Given the description of an element on the screen output the (x, y) to click on. 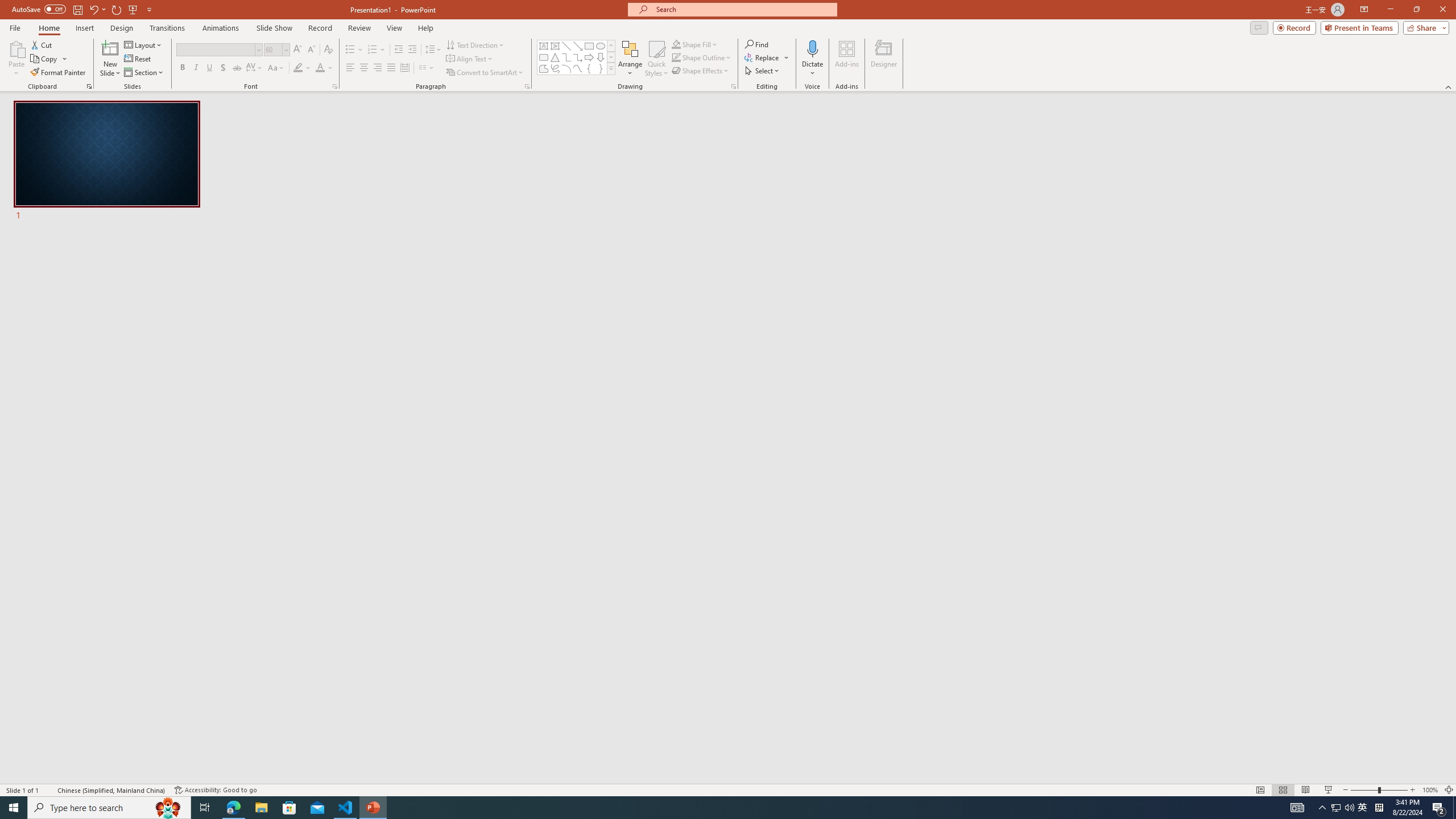
Line Spacing (433, 49)
Text Box (543, 45)
Isosceles Triangle (554, 57)
System (6, 6)
Record (1294, 27)
Replace... (767, 56)
Columns (426, 67)
New Slide (110, 58)
Cut (42, 44)
Shadow (223, 67)
Arrow: Down (600, 57)
Row up (611, 45)
Transitions (167, 28)
Convert to SmartArt (485, 72)
Save (77, 9)
